Given the description of an element on the screen output the (x, y) to click on. 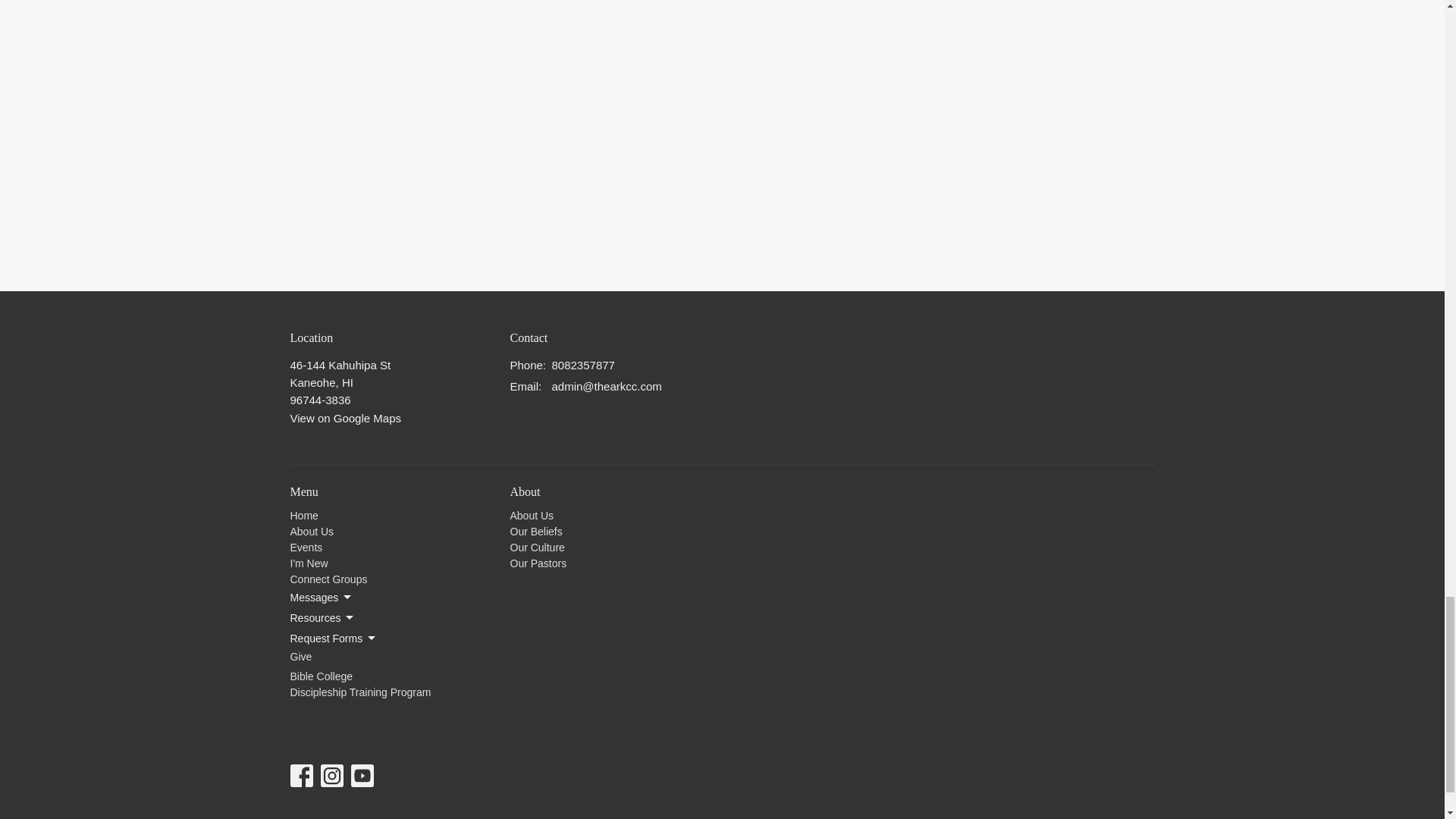
Messages (321, 597)
About Us (311, 531)
Connect Groups (327, 579)
translation missing: en.ui.email (523, 386)
Events (305, 547)
I'm New (308, 563)
Home (303, 515)
8082357877 (582, 364)
View on Google Maps (344, 418)
Resources (322, 617)
